Given the description of an element on the screen output the (x, y) to click on. 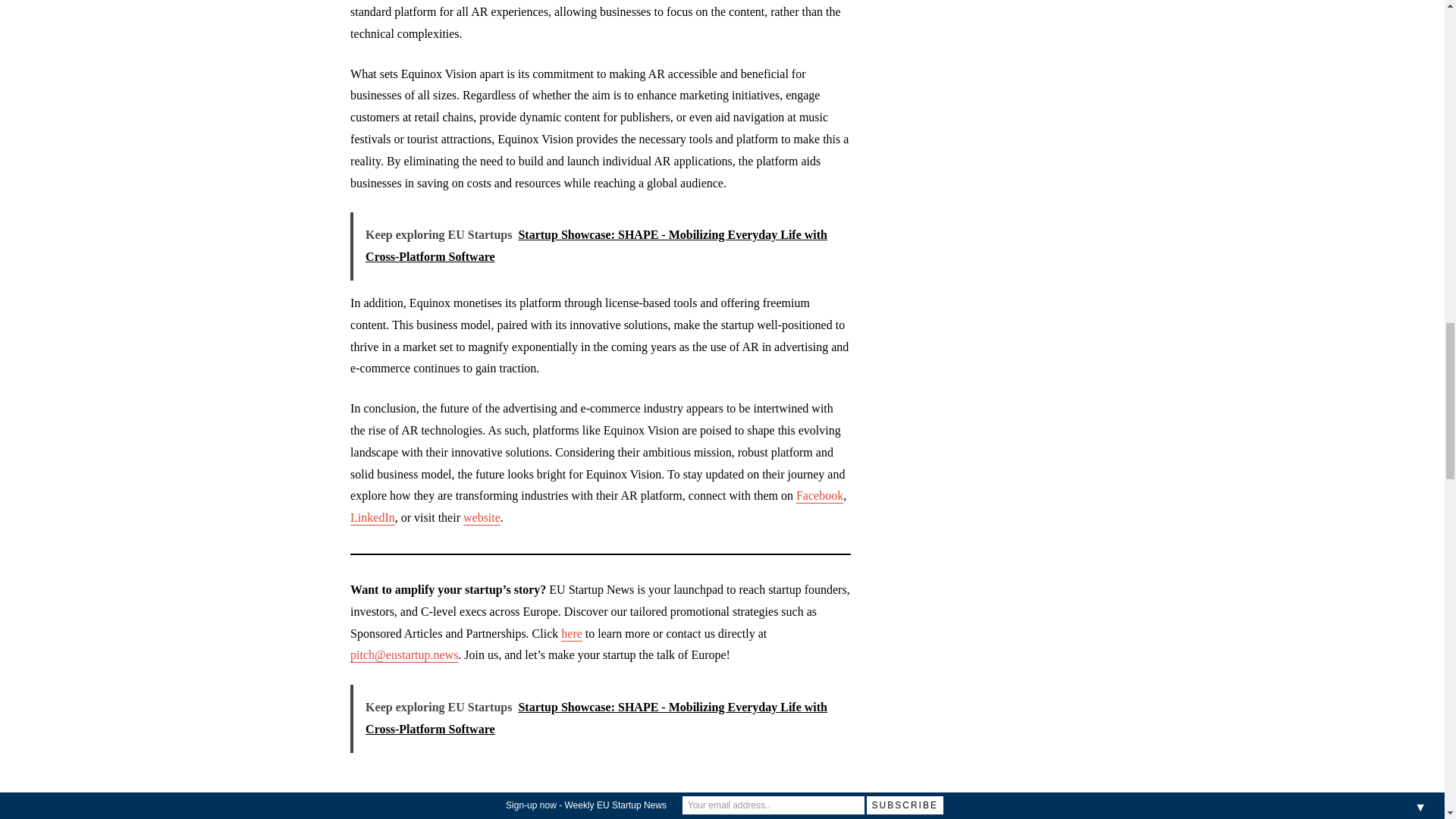
Facebook (819, 495)
LinkedIn (372, 517)
here (571, 633)
website (481, 517)
Advertisement (600, 807)
